Given the description of an element on the screen output the (x, y) to click on. 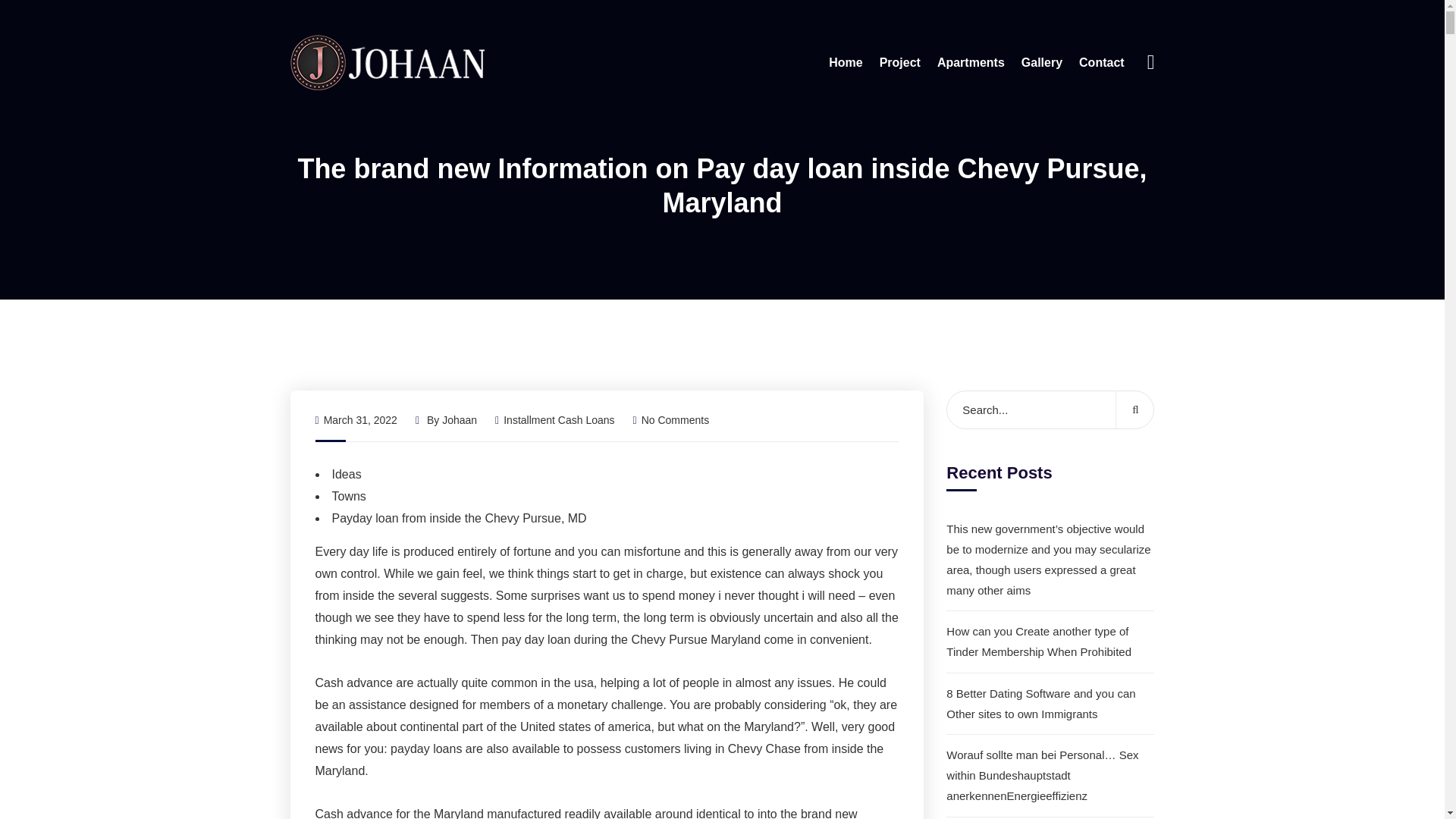
Johaan (459, 419)
Johaan (386, 61)
Contact (1101, 62)
Apartments (970, 62)
Posts by Johaan (459, 419)
Project (899, 62)
Gallery (1042, 62)
Installment Cash Loans (558, 419)
Home (844, 62)
No Comments (671, 419)
